Given the description of an element on the screen output the (x, y) to click on. 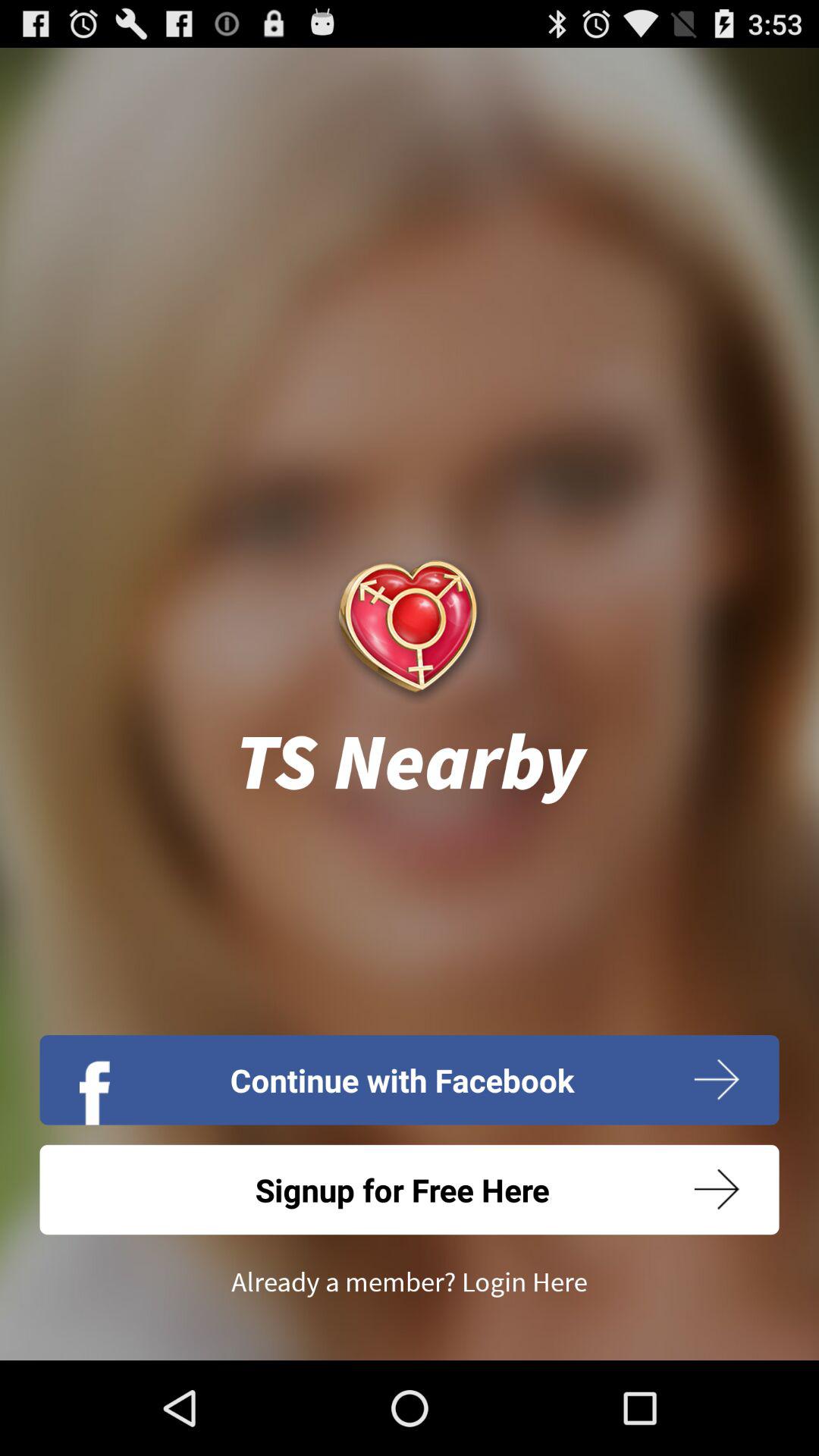
scroll until the signup for free icon (409, 1189)
